Given the description of an element on the screen output the (x, y) to click on. 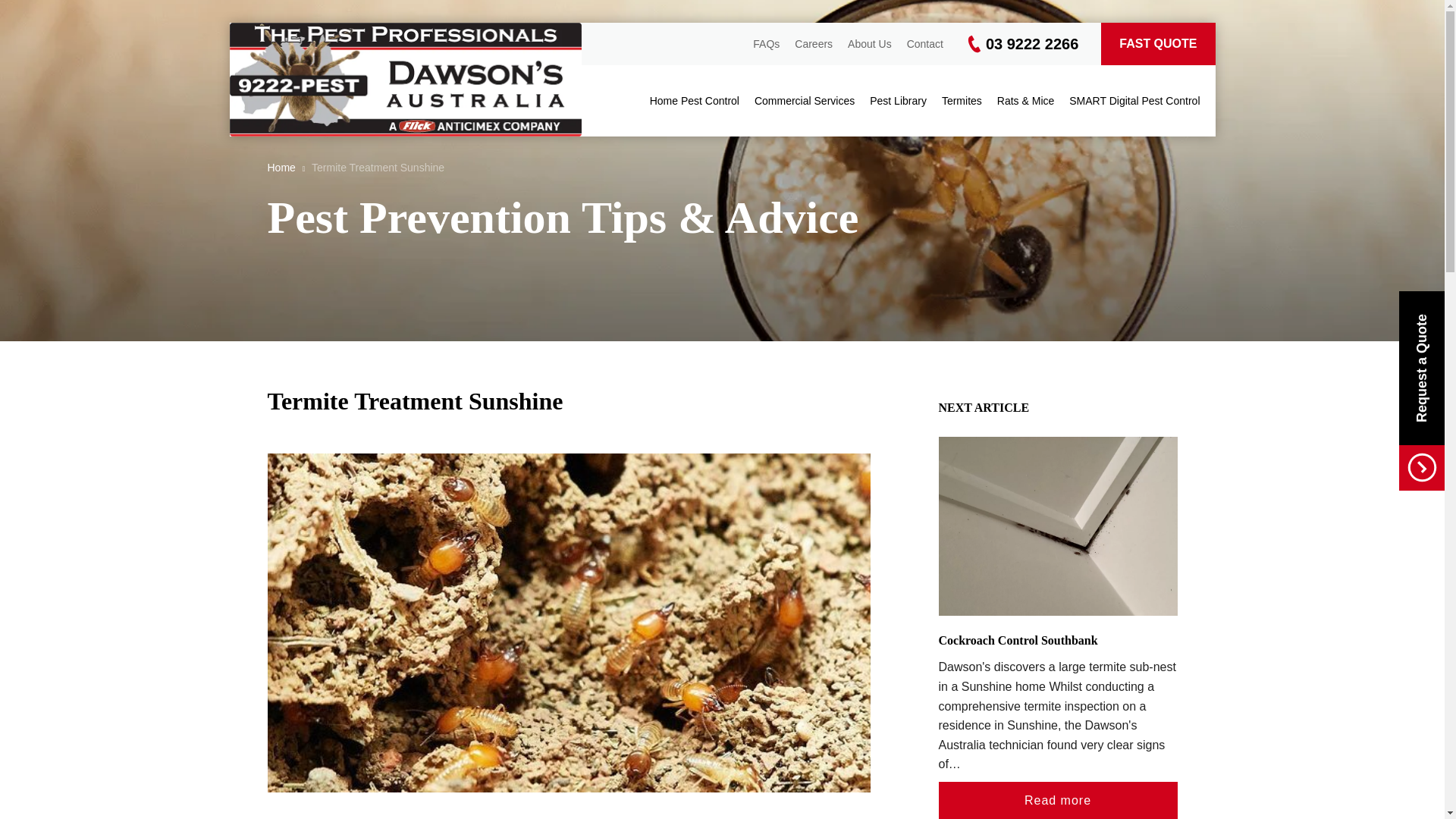
Cockroach Control Southbank (1058, 525)
Home Pest Control (694, 100)
FAST QUOTE (1157, 43)
FAQs (765, 43)
Home (280, 167)
Get a fast quote for pest control (1157, 43)
03 9222 2266 (1020, 43)
About Us (869, 43)
Read more (1058, 800)
Cockroach Control Southbank (1018, 640)
